Given the description of an element on the screen output the (x, y) to click on. 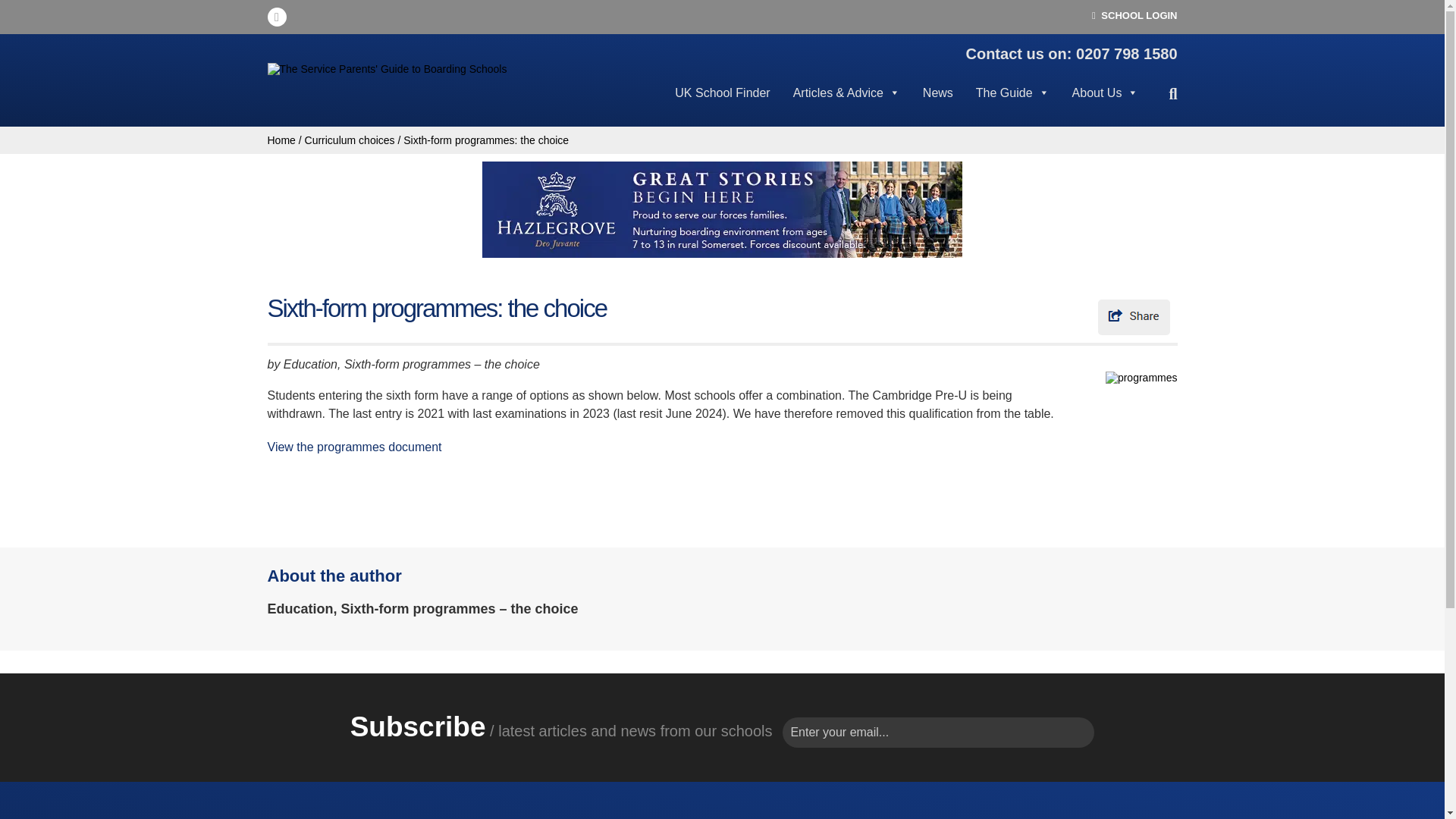
About Us (1105, 101)
Twitter (275, 16)
0207 798 1580 (1125, 53)
News (937, 101)
View the programmes document (353, 446)
The Guide (1012, 101)
Sign up (155, 18)
UK School Finder (721, 101)
SCHOOL LOGIN (1134, 15)
Home (280, 140)
Curriculum choices (349, 140)
